Given the description of an element on the screen output the (x, y) to click on. 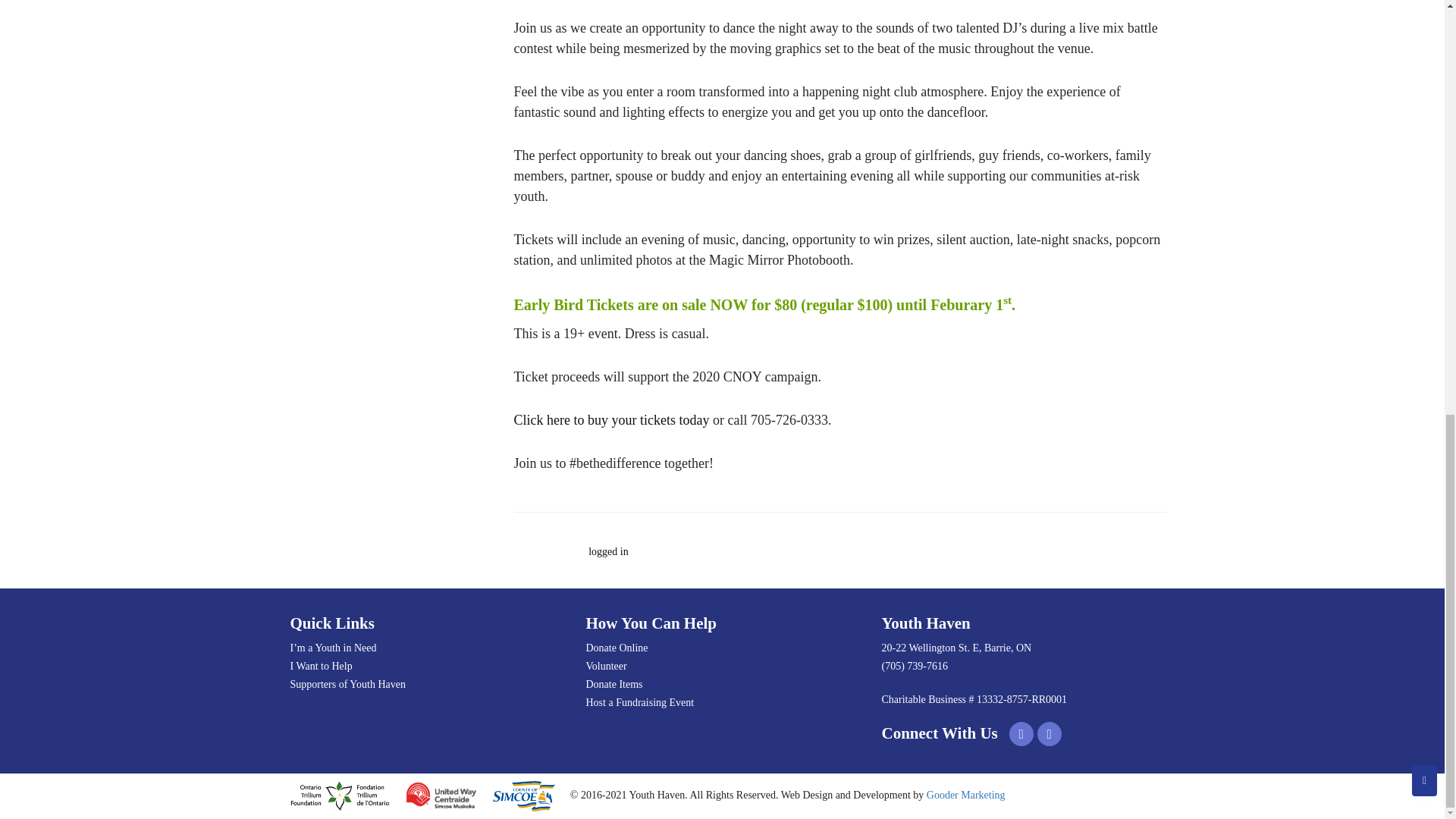
logged in (608, 551)
I Want to Help (425, 666)
Click here to buy your tickets today (611, 419)
Donate Online (722, 648)
Donate Items (722, 684)
Gooder Marketing (966, 794)
Volunteer (722, 666)
Supporters of Youth Haven (425, 684)
Host a Fundraising Event (722, 702)
